Given the description of an element on the screen output the (x, y) to click on. 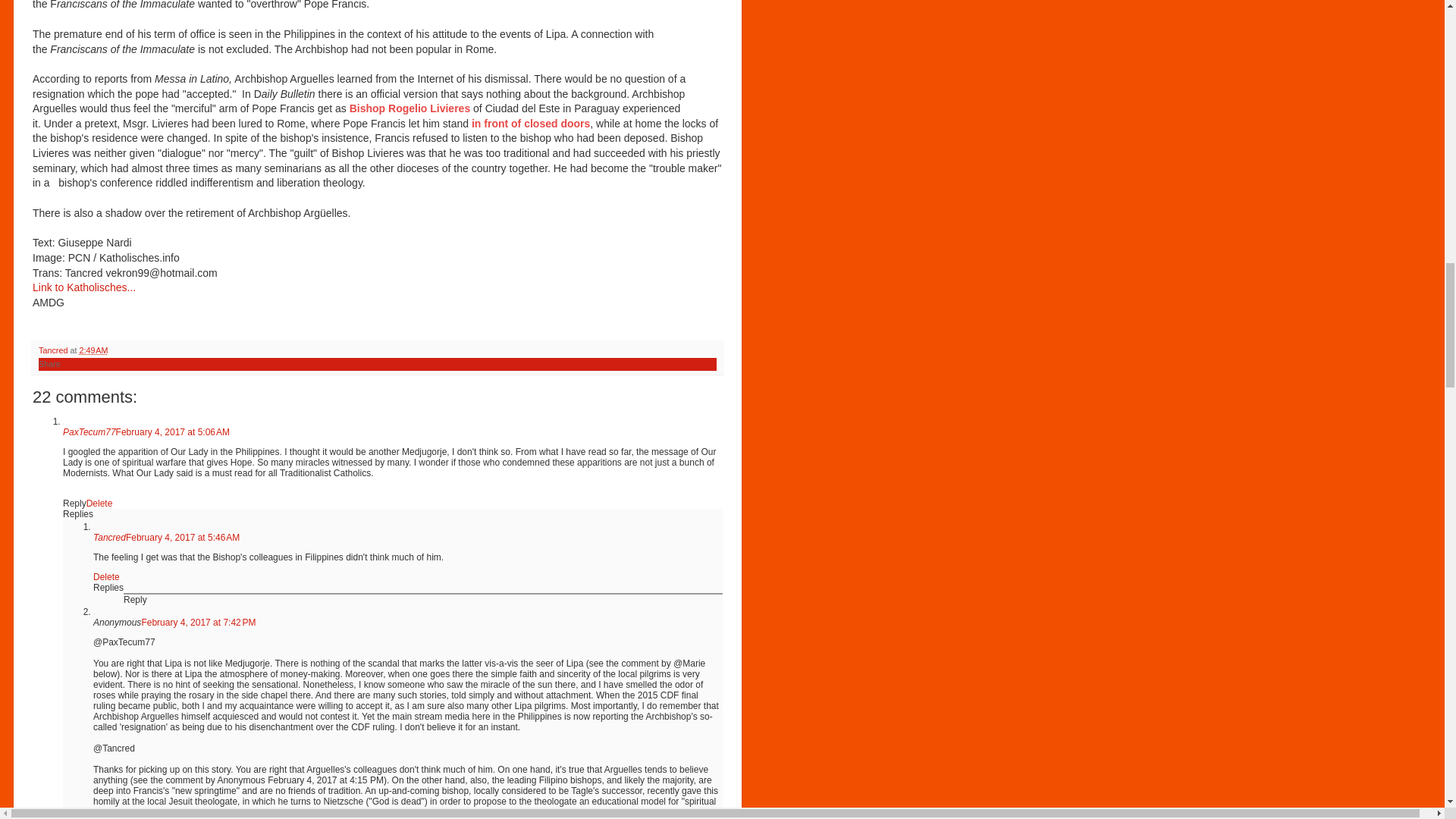
Reply (135, 599)
Replies (108, 587)
Link to Katholisches... (83, 287)
Delete (106, 576)
Share (50, 363)
Replies (77, 513)
permanent link (92, 349)
author profile (54, 349)
Tancred (109, 537)
in front of closed doors (530, 123)
PaxTecum77 (89, 431)
Delete (99, 502)
